Given the description of an element on the screen output the (x, y) to click on. 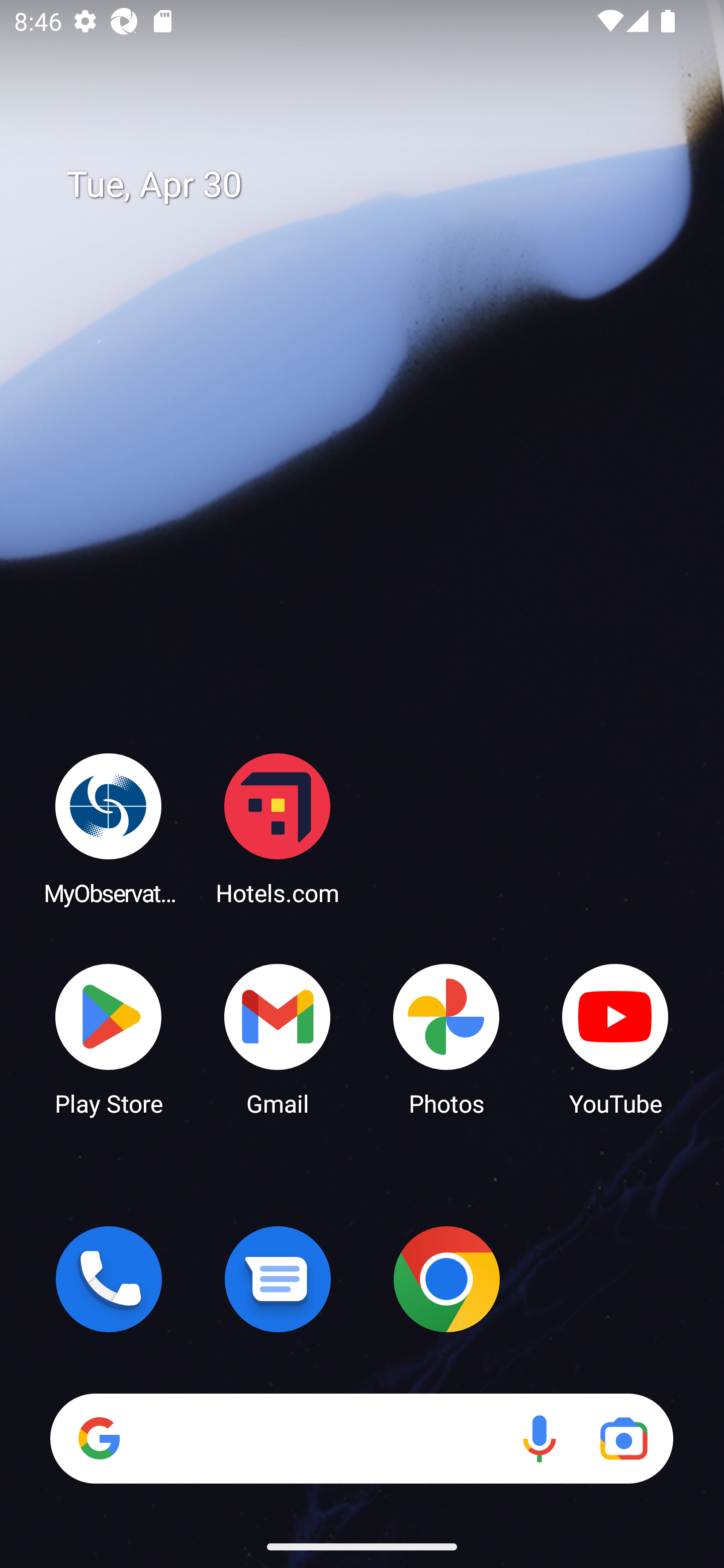
Tue, Apr 30 (375, 184)
MyObservatory (108, 828)
Hotels.com (277, 828)
Play Store (108, 1038)
Gmail (277, 1038)
Photos (445, 1038)
YouTube (615, 1038)
Phone (108, 1279)
Messages (277, 1279)
Chrome (446, 1279)
Voice search (539, 1438)
Google Lens (623, 1438)
